Given the description of an element on the screen output the (x, y) to click on. 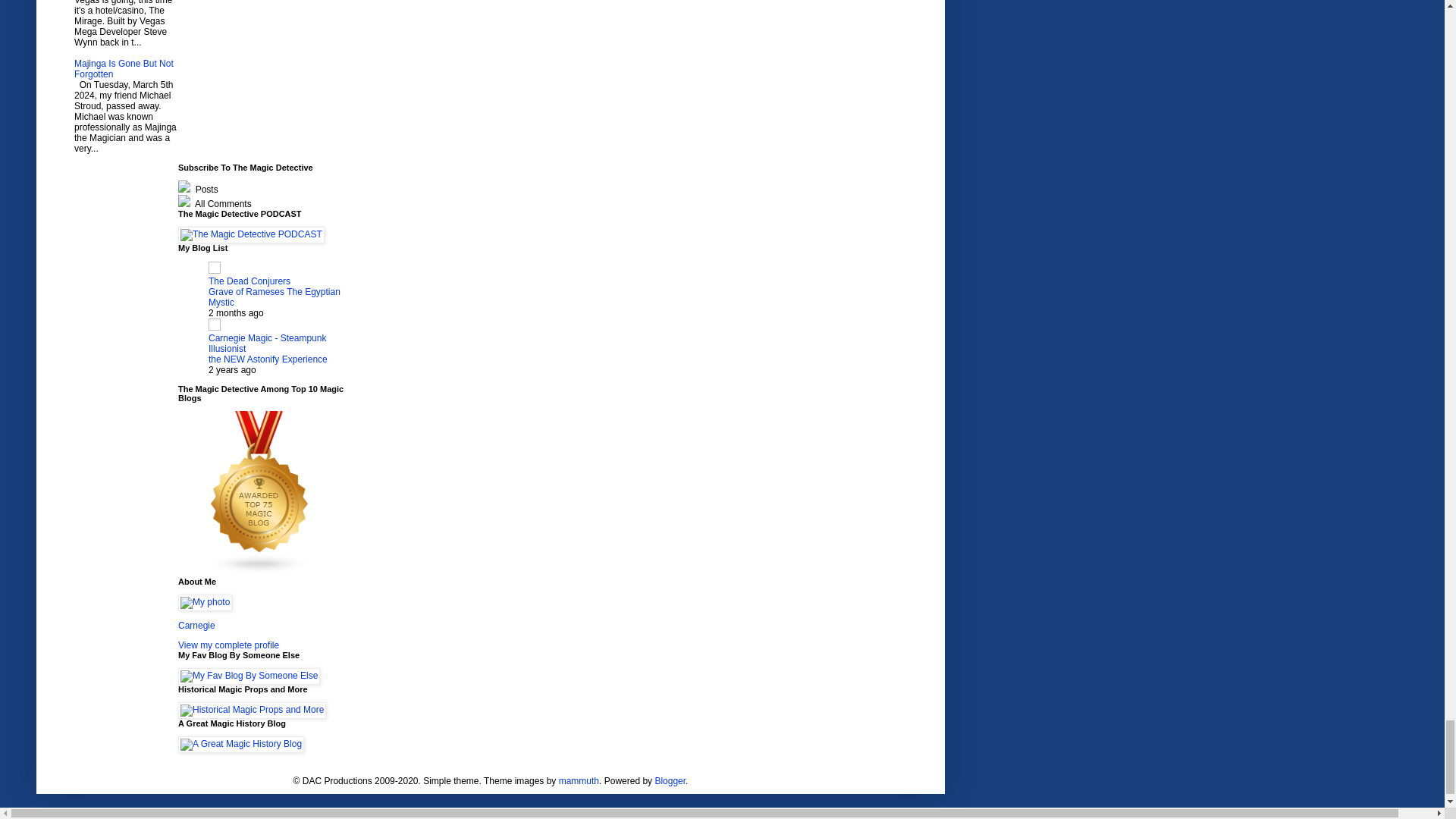
Magic blogs (259, 571)
